Given the description of an element on the screen output the (x, y) to click on. 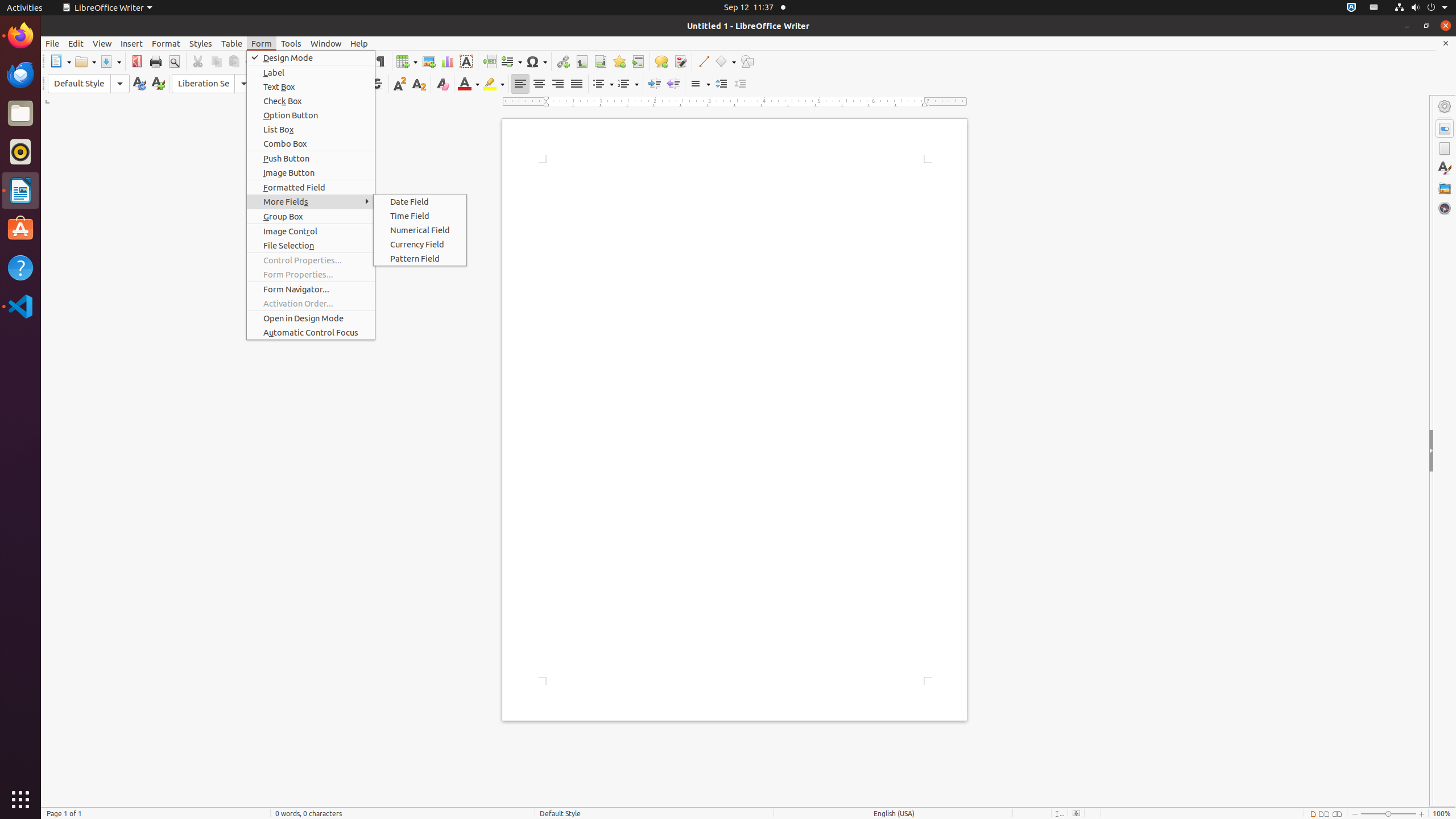
Option Button Element type: check-menu-item (310, 115)
Automatic Control Focus Element type: check-menu-item (310, 332)
Center Element type: toggle-button (538, 83)
Clear Element type: push-button (441, 83)
Redo Element type: push-button (315, 61)
